Given the description of an element on the screen output the (x, y) to click on. 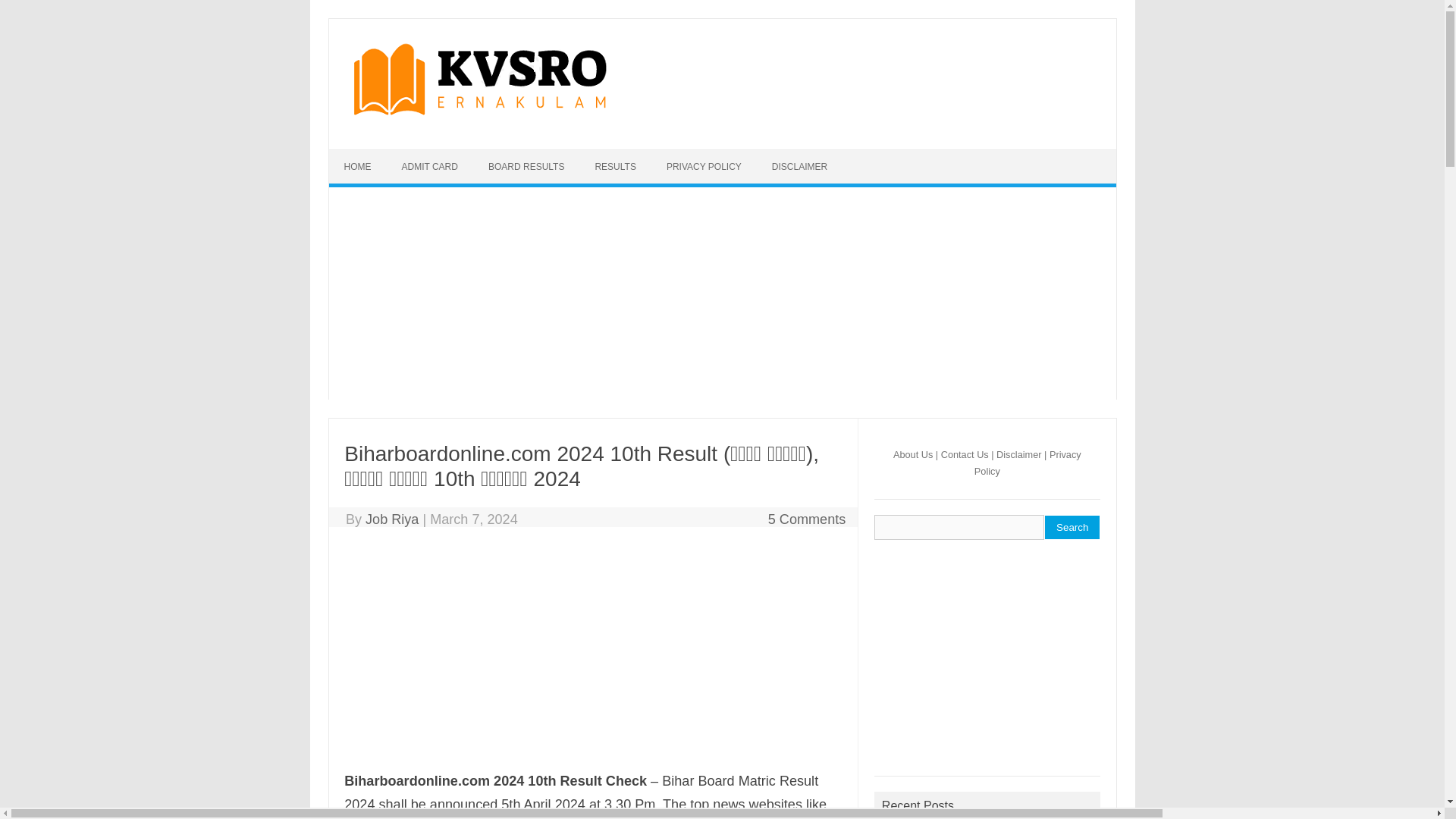
About Us (913, 454)
KVSRO ERNAKULAM (477, 116)
Search (1072, 526)
ADMIT CARD (430, 166)
Posts by Job Riya (392, 519)
Search (1072, 526)
Skip to content (374, 159)
BOARD RESULTS (526, 166)
DISCLAIMER (800, 166)
RESULTS (614, 166)
Job Riya (392, 519)
5 Comments (806, 519)
PRIVACY POLICY (703, 166)
HOME (358, 166)
